Given the description of an element on the screen output the (x, y) to click on. 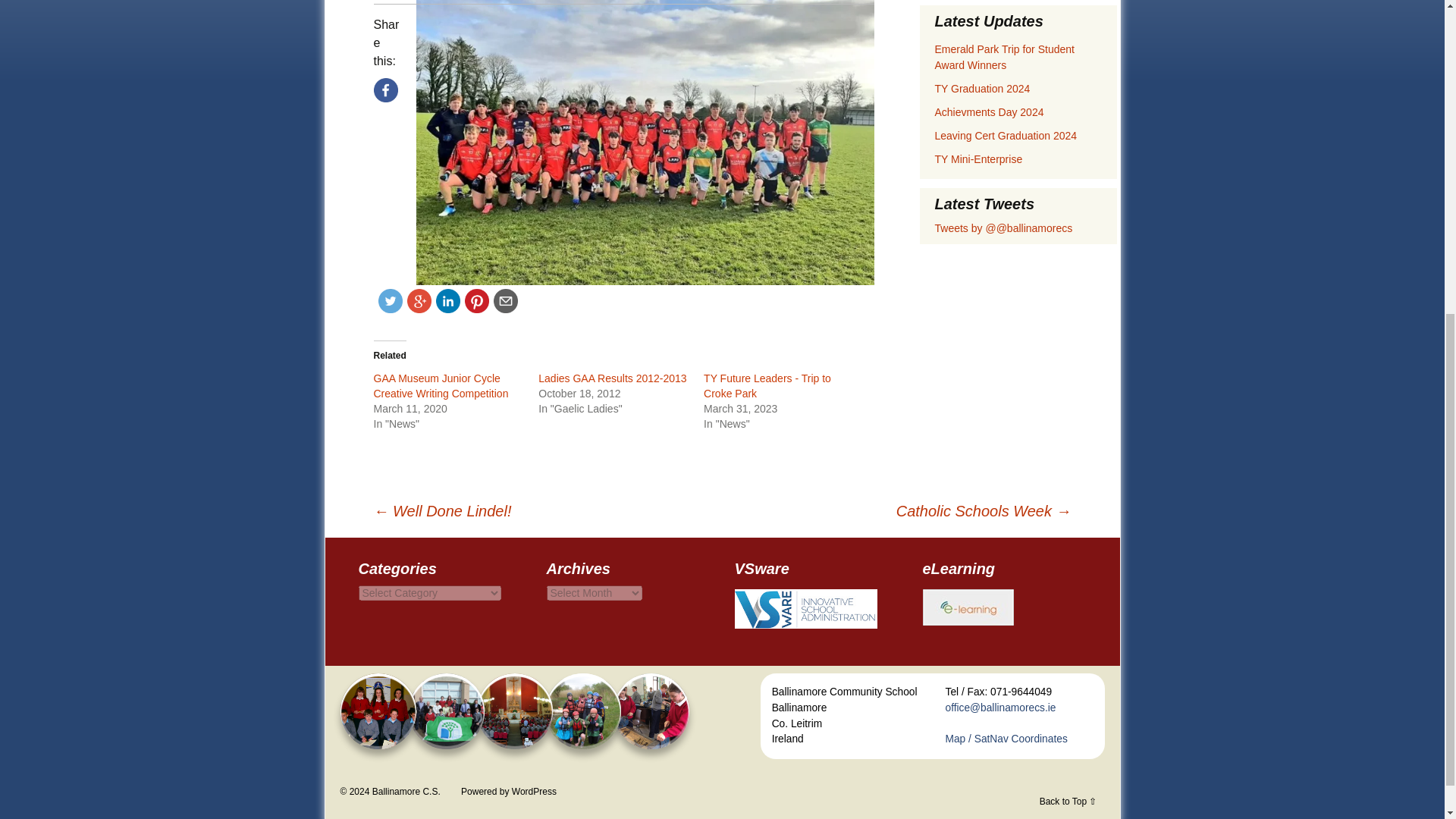
Click to share on Facebook (384, 89)
Click to share on LinkedIn (447, 300)
Click to share on Google (418, 300)
Click to share on Pinterest (475, 300)
Click to share by Email (504, 300)
Click to share on Twitter (389, 300)
